Given the description of an element on the screen output the (x, y) to click on. 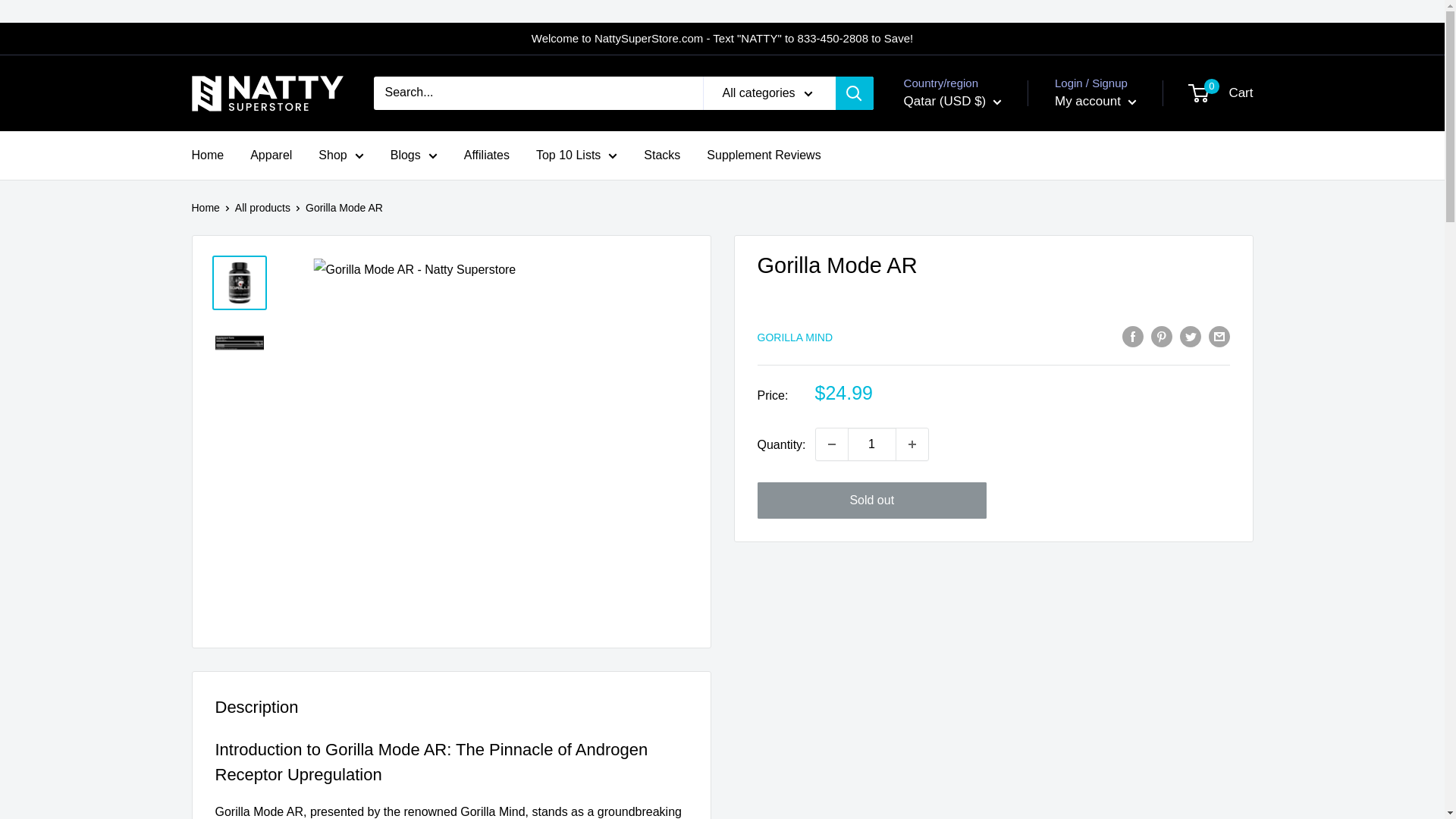
Decrease quantity by 1 (831, 444)
1 (871, 444)
Increase quantity by 1 (912, 444)
